Given the description of an element on the screen output the (x, y) to click on. 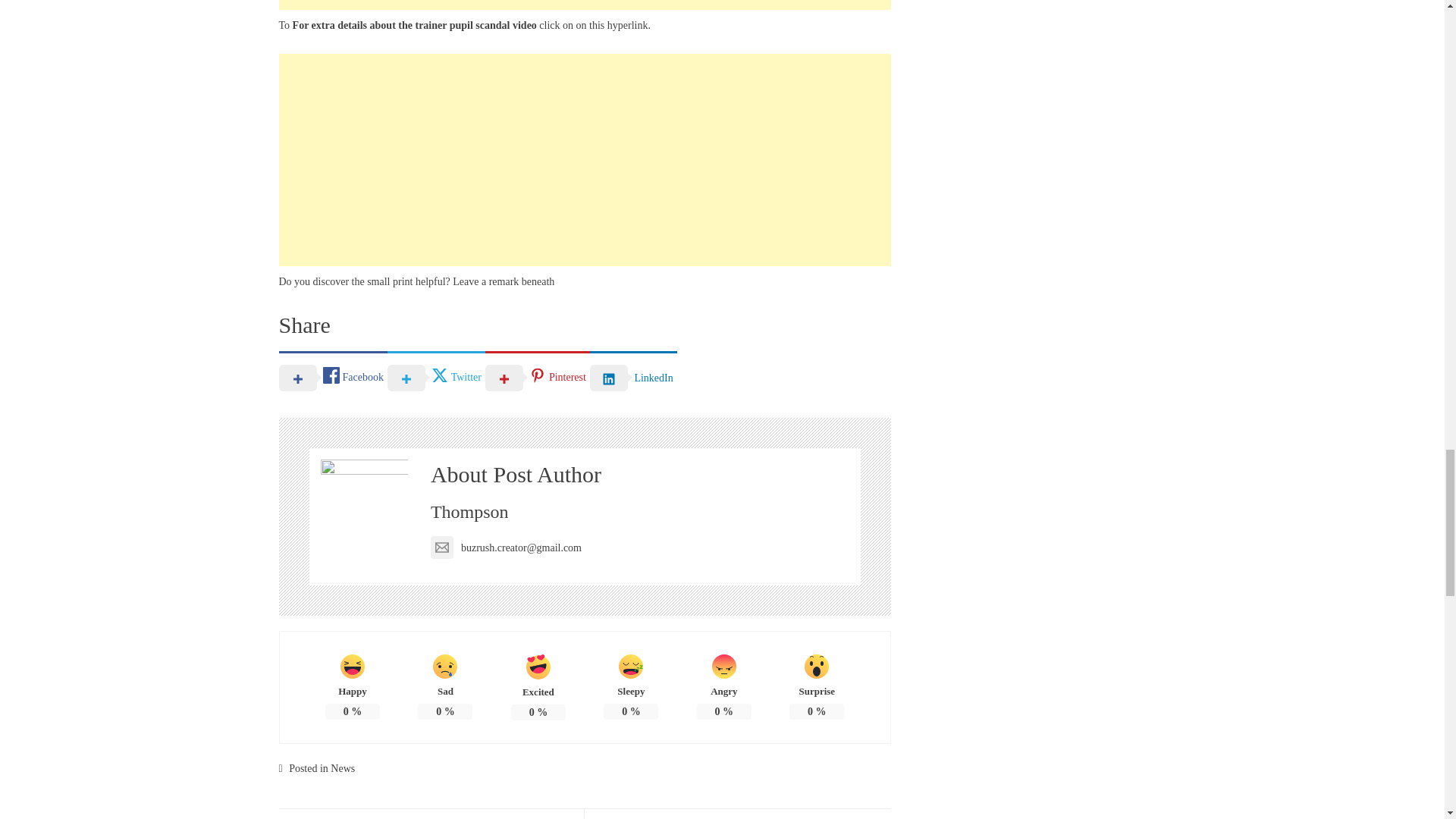
Twitter (435, 376)
Pinterest (536, 376)
Advertisement (585, 4)
LinkedIn (633, 376)
News (342, 767)
Facebook (333, 376)
Advertisement (585, 160)
Thompson (469, 511)
